Given the description of an element on the screen output the (x, y) to click on. 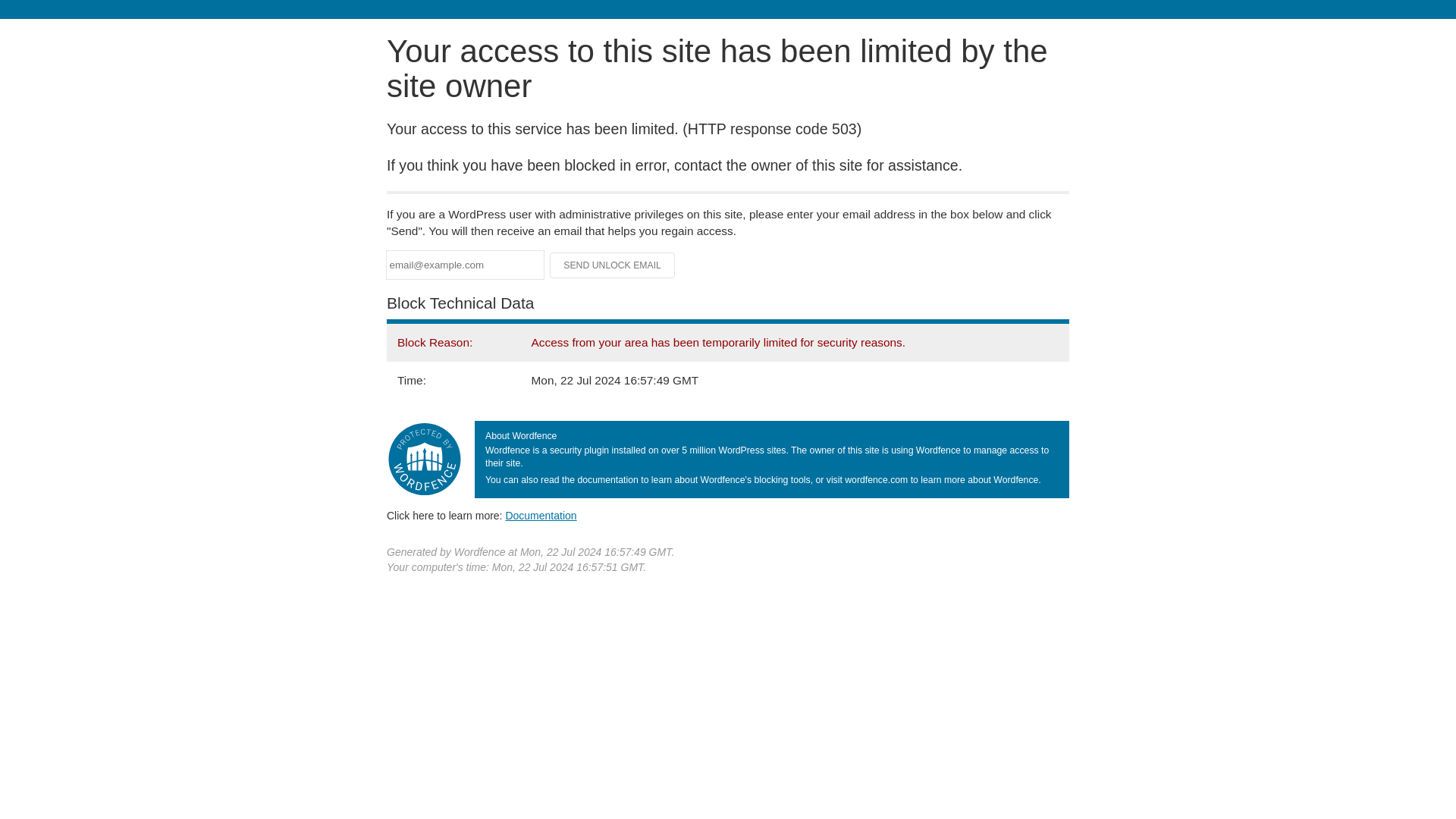
Documentation (540, 515)
Send Unlock Email (612, 265)
Send Unlock Email (612, 265)
